Given the description of an element on the screen output the (x, y) to click on. 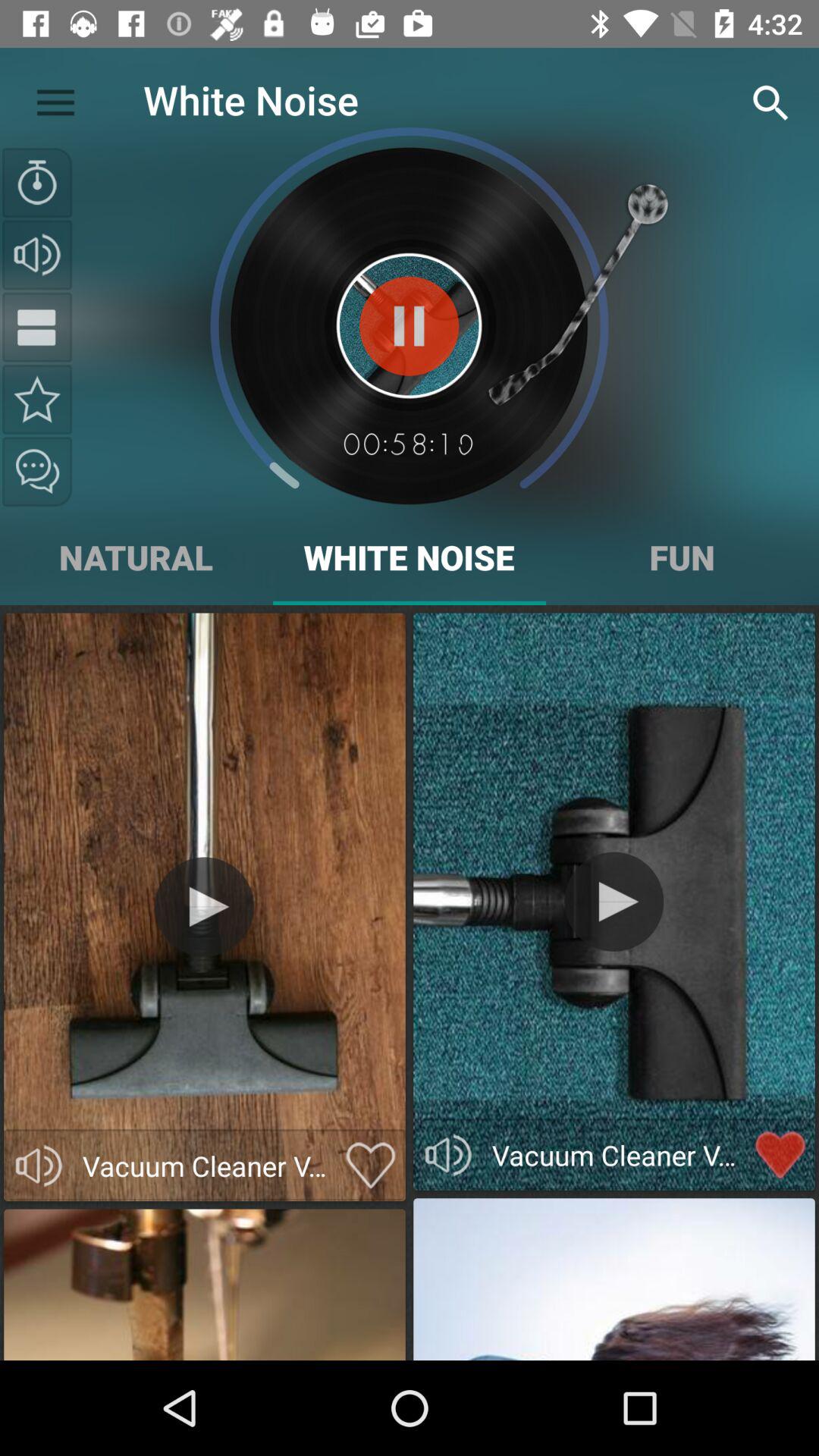
play video (204, 906)
